Given the description of an element on the screen output the (x, y) to click on. 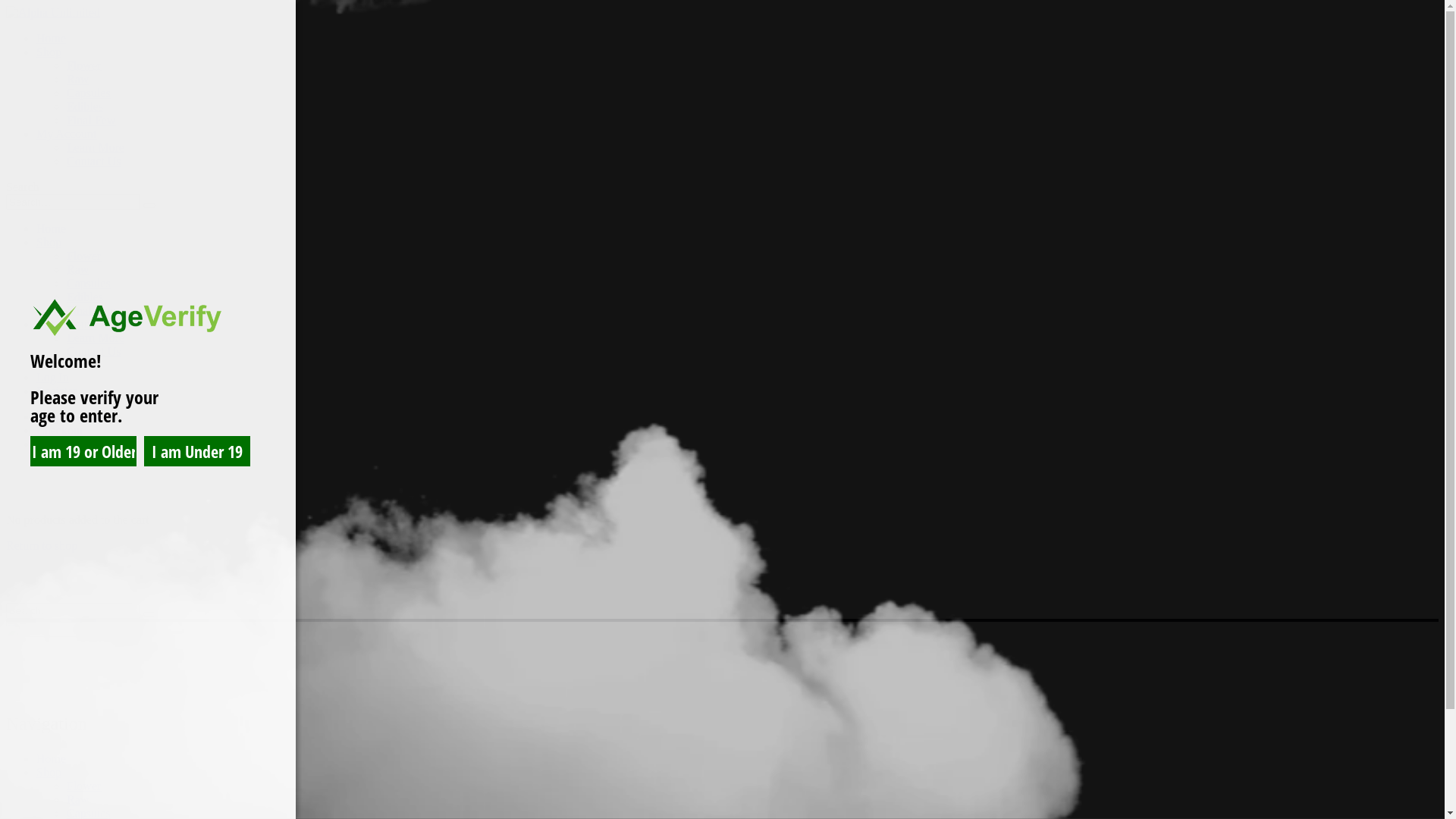
Capsules Element type: text (88, 92)
Final Few Element type: text (90, 310)
Register Element type: text (56, 390)
Shopping Cart Element type: text (71, 416)
Search Element type: text (22, 186)
Raw Element type: text (77, 799)
Shop Element type: text (48, 51)
I am Under 19 Element type: text (197, 451)
Flower Element type: text (83, 255)
Raw Element type: text (77, 269)
Learn More Element type: text (95, 147)
Return to shop Element type: text (41, 545)
Capsules Element type: text (88, 282)
Contact Us Element type: text (93, 160)
Order Complete Element type: text (75, 443)
Checkout Element type: text (59, 429)
Home Element type: text (50, 758)
My Account Element type: text (66, 133)
Edibles Element type: text (84, 106)
Flower Element type: text (83, 785)
Shop Element type: text (48, 771)
Flower Element type: text (83, 65)
My Account Element type: text (66, 323)
Search Element type: hover (149, 205)
Contact Us Element type: text (93, 351)
Raw Element type: text (77, 78)
Home Element type: text (50, 37)
I am 19 or Older Element type: text (83, 451)
Final Few Element type: text (90, 119)
Edibles Element type: text (84, 296)
Learn More Element type: text (95, 337)
Log In Element type: text (52, 376)
Home Element type: text (50, 228)
Alpha Unlimited - Unlock your unlimited potential Element type: hover (53, 12)
Shop Element type: text (48, 241)
